Given the description of an element on the screen output the (x, y) to click on. 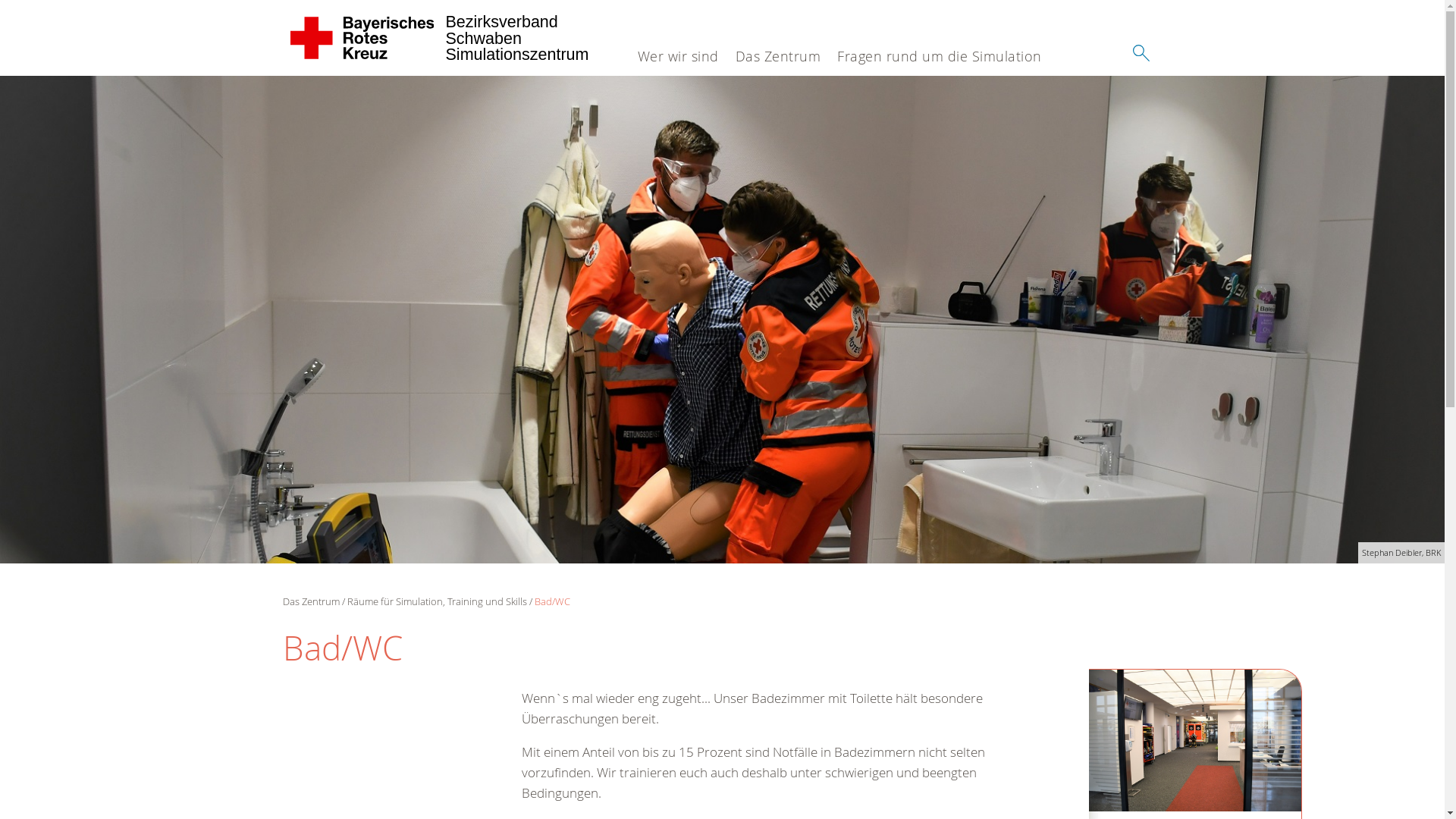
Bad/WC Element type: hover (722, 319)
Bezirksverband 
Schwaben 
Simulationszentrum  Element type: text (362, 37)
Eingang Simulationszentrum Element type: hover (1194, 740)
Bad/WC Element type: text (552, 601)
